Given the description of an element on the screen output the (x, y) to click on. 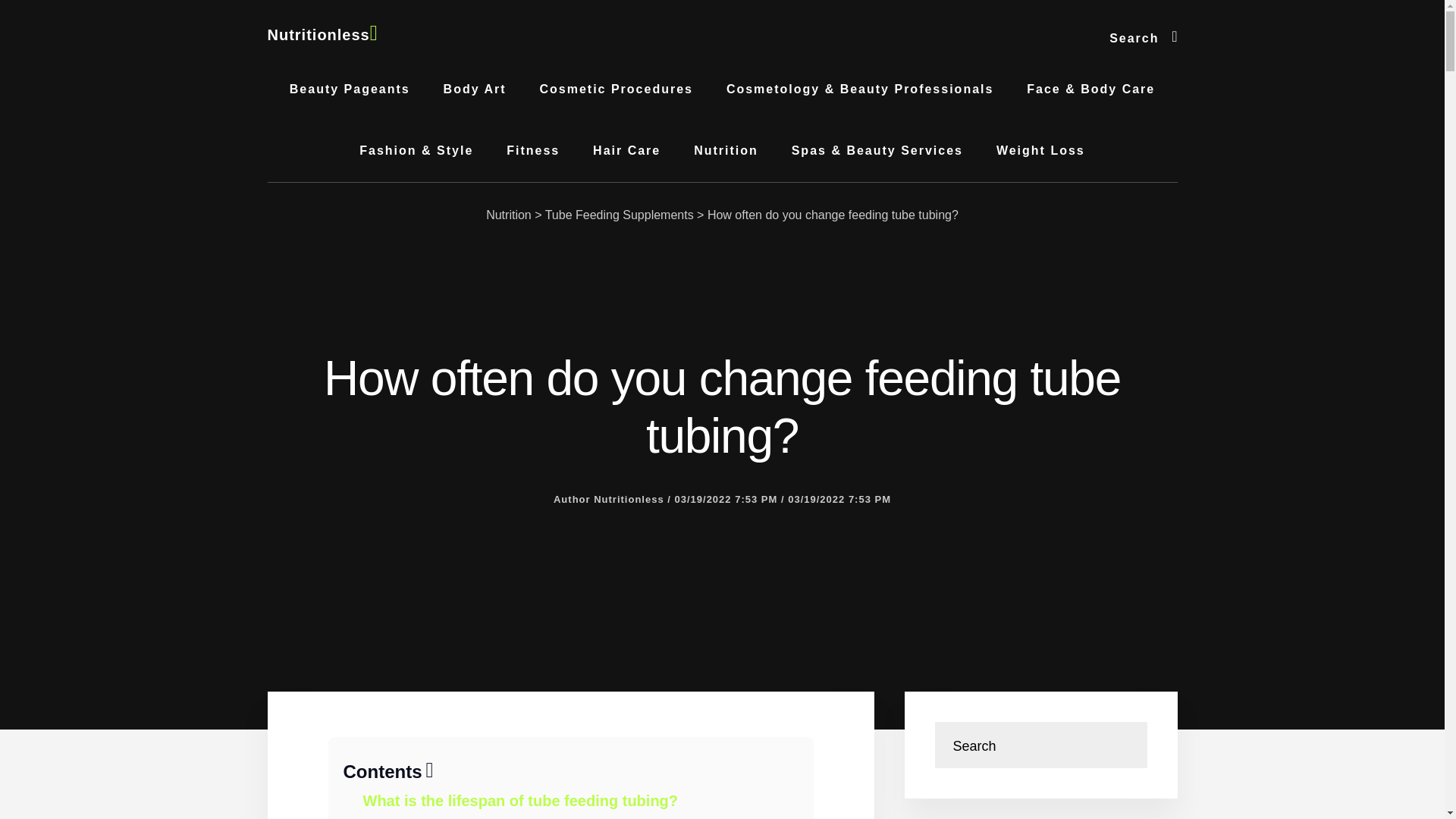
What is the lifespan of tube feeding tubing? (520, 800)
Tube Feeding Supplements (619, 214)
Body Art (474, 89)
Nutritionless (321, 34)
Nutrition (508, 214)
Cosmetic Procedures (615, 89)
Weight Loss (1040, 150)
Fitness (533, 150)
Beauty Pageants (350, 89)
Hair Care (626, 150)
Nutrition (725, 150)
